Given the description of an element on the screen output the (x, y) to click on. 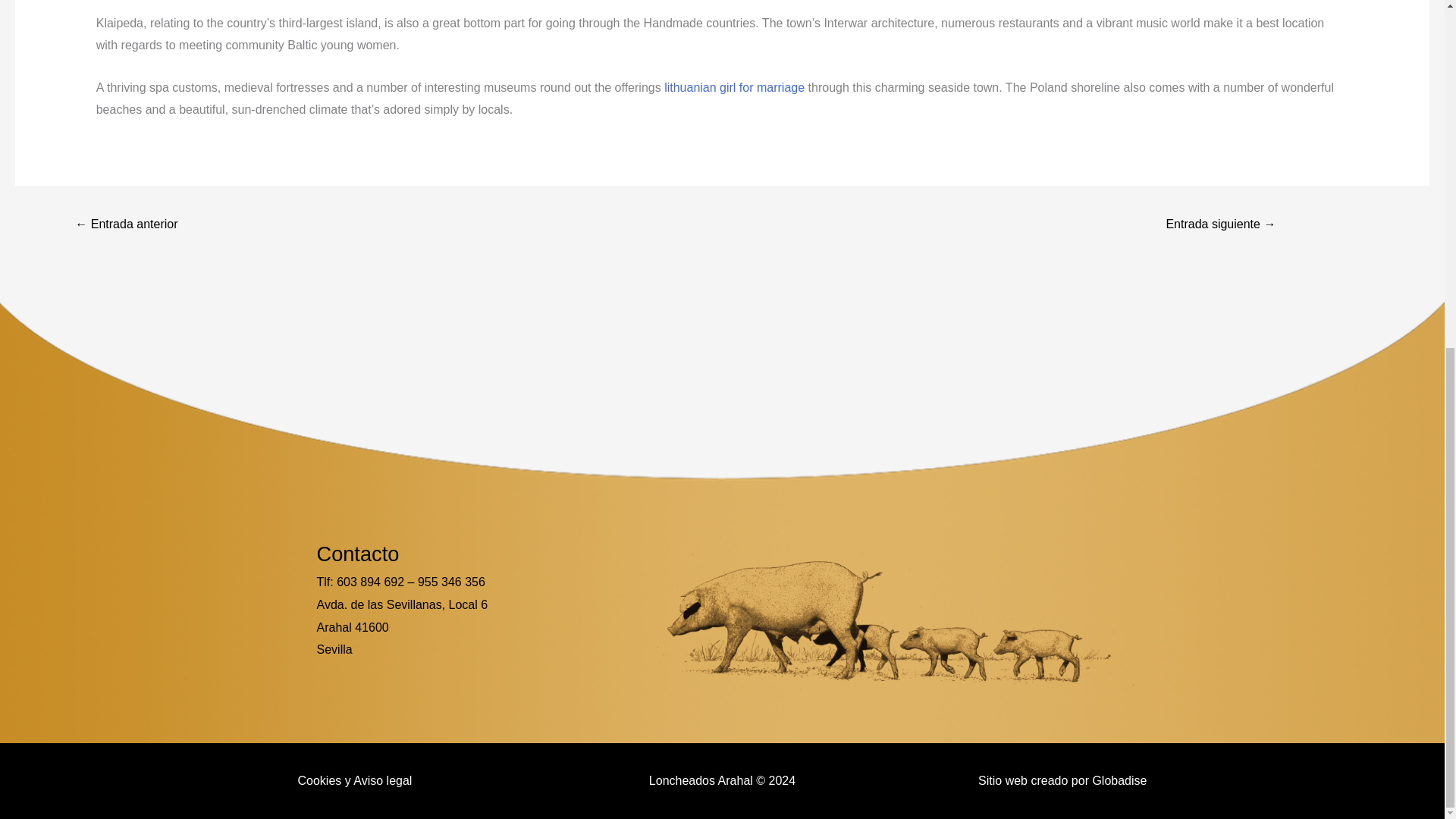
Exactly what is a Soulmate? (125, 225)
lithuanian girl for marriage (734, 87)
Sitio web creado por Globadise (1062, 780)
Hook Up on Tinder (1220, 225)
Cookies y Aviso legal (354, 780)
